Given the description of an element on the screen output the (x, y) to click on. 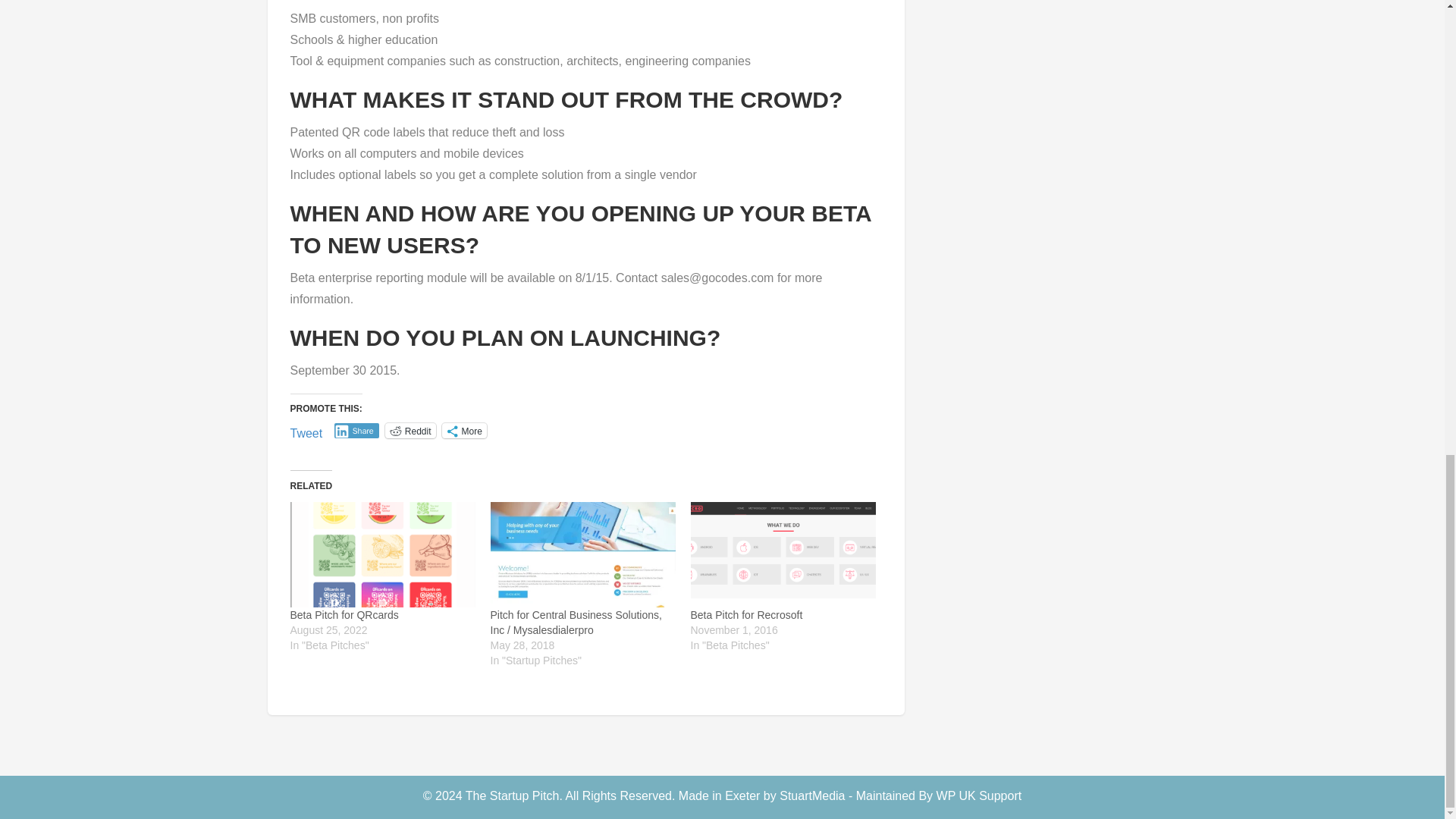
Freelance Web Developer Exeter (811, 795)
WP UK Support (979, 795)
Reddit (410, 430)
Share (356, 430)
Beta Pitch for QRcards (343, 614)
Beta Pitch for QRcards (381, 554)
Beta Pitch for QRcards (343, 614)
Beta Pitch for Recrosoft (746, 614)
Click to share on Reddit (410, 430)
StuartMedia (811, 795)
More (463, 430)
Tweet (305, 429)
Beta Pitch for Recrosoft (782, 554)
Beta Pitch for Recrosoft (746, 614)
